Given the description of an element on the screen output the (x, y) to click on. 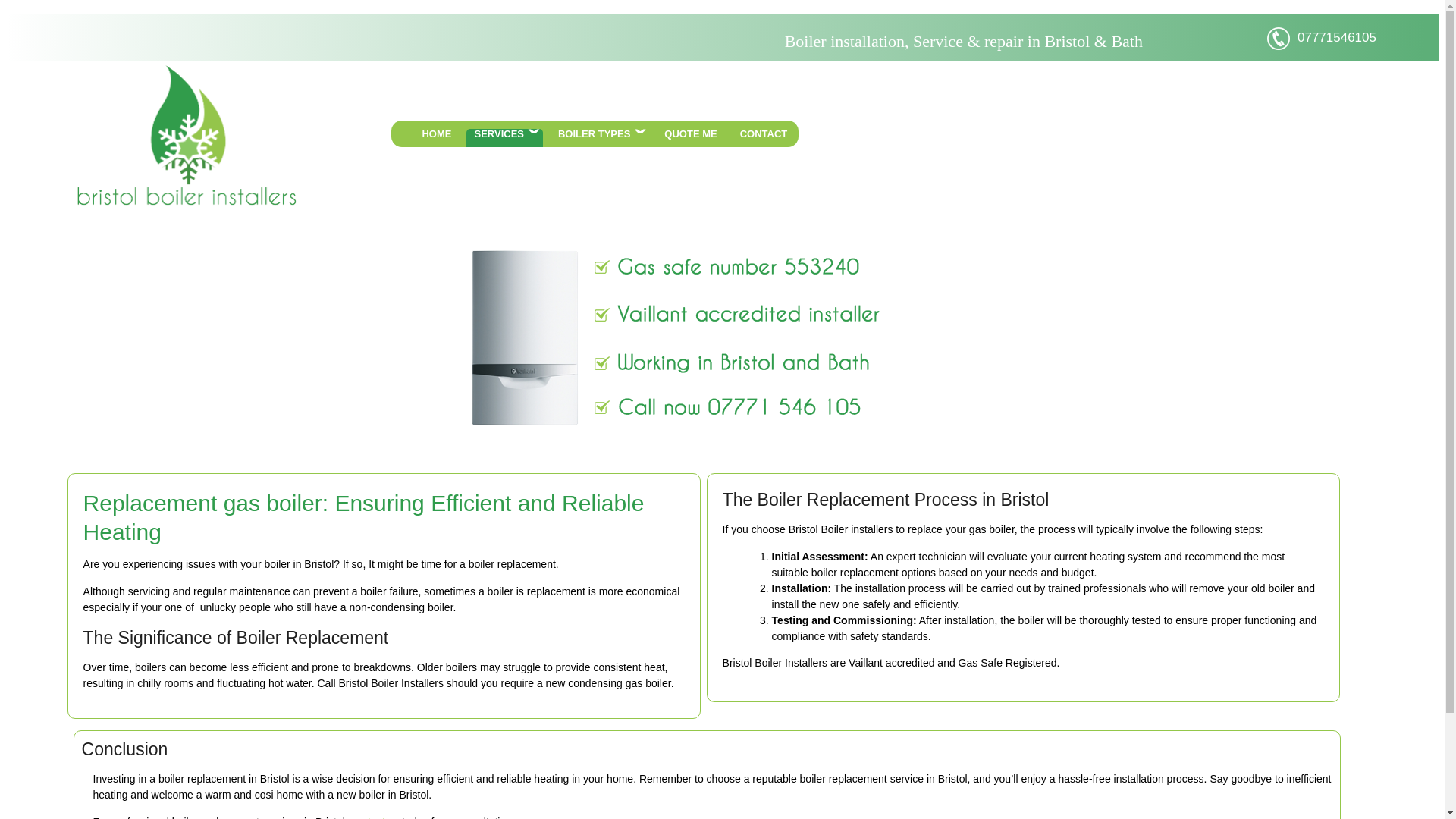
contact us (374, 817)
CONTACT (763, 137)
HOME (435, 137)
SERVICES (504, 137)
QUOTE ME (689, 137)
BOILER TYPES (599, 137)
Gas Safe Registered (1007, 662)
Vaillant accredited (891, 662)
